Given the description of an element on the screen output the (x, y) to click on. 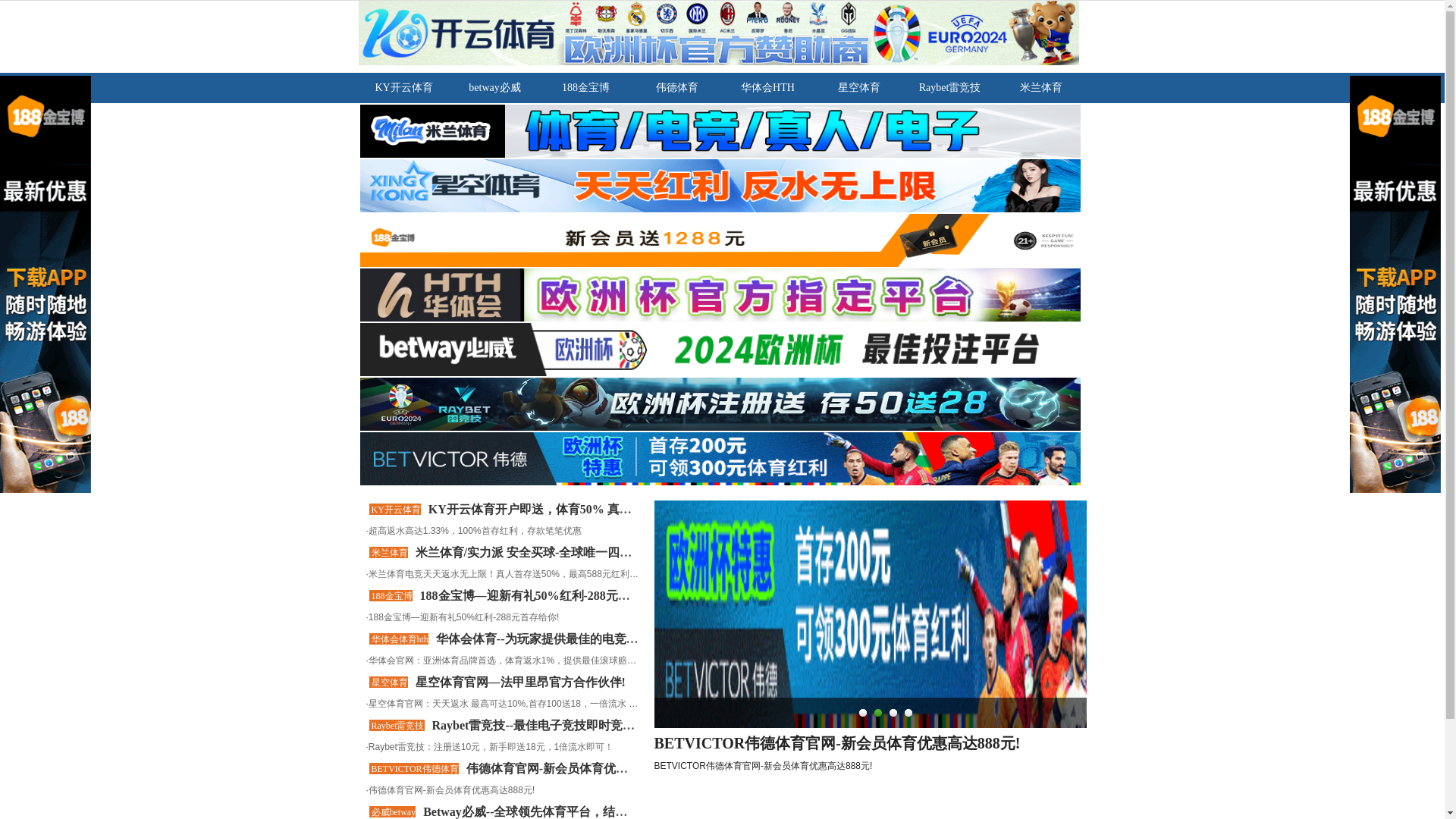
360 (836, 768)
sougou (836, 804)
360 (836, 768)
sougou (836, 804)
baidu (856, 732)
Log in to your name.com account (468, 329)
Resend the verification email (456, 237)
baidu (856, 732)
